Given the description of an element on the screen output the (x, y) to click on. 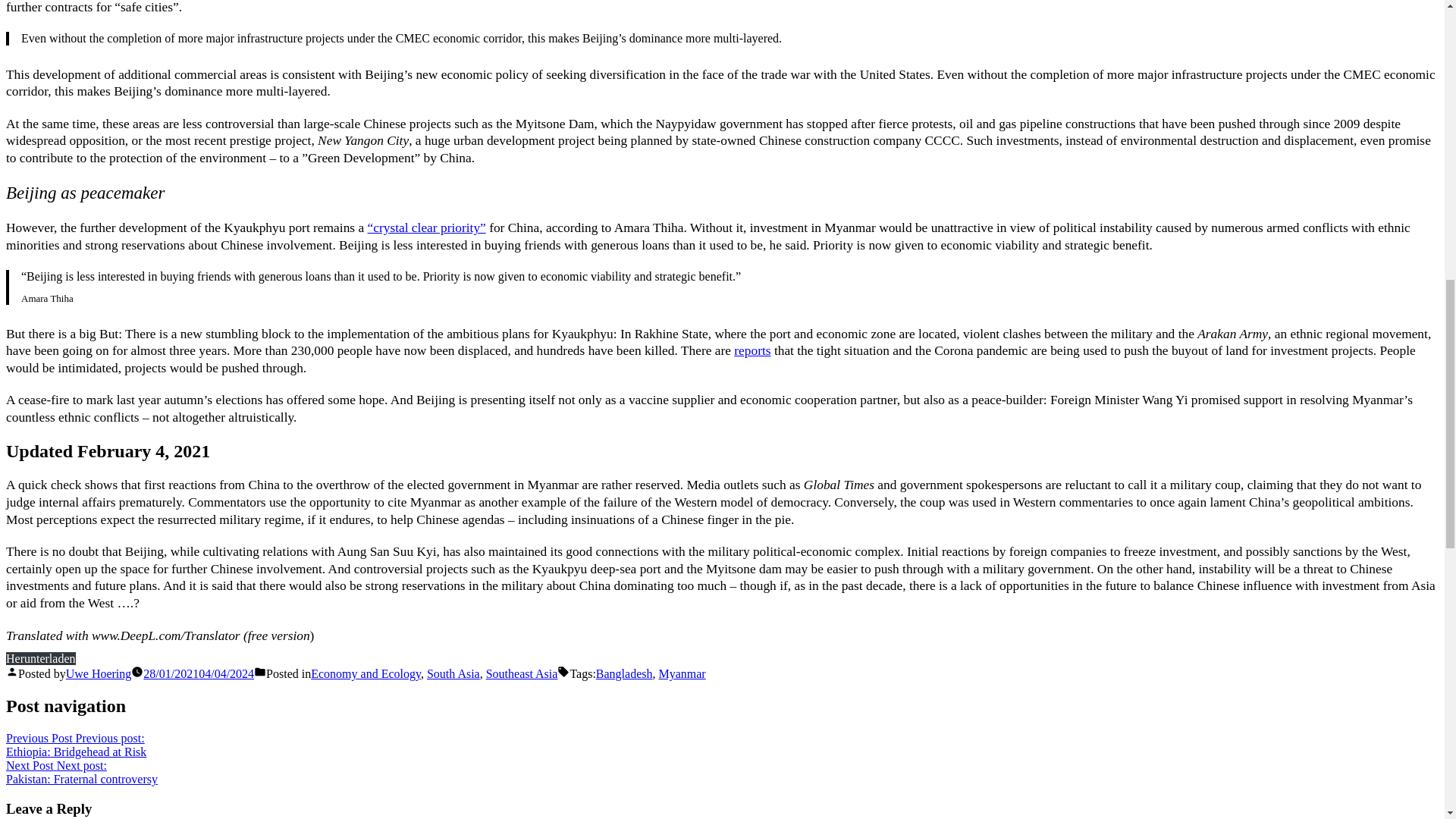
Bangladesh (623, 673)
reports (76, 745)
Myanmar (751, 350)
Southeast Asia (681, 673)
Herunterladen (81, 772)
South Asia (521, 673)
Uwe Hoering (40, 658)
Economy and Ecology (453, 673)
